Given the description of an element on the screen output the (x, y) to click on. 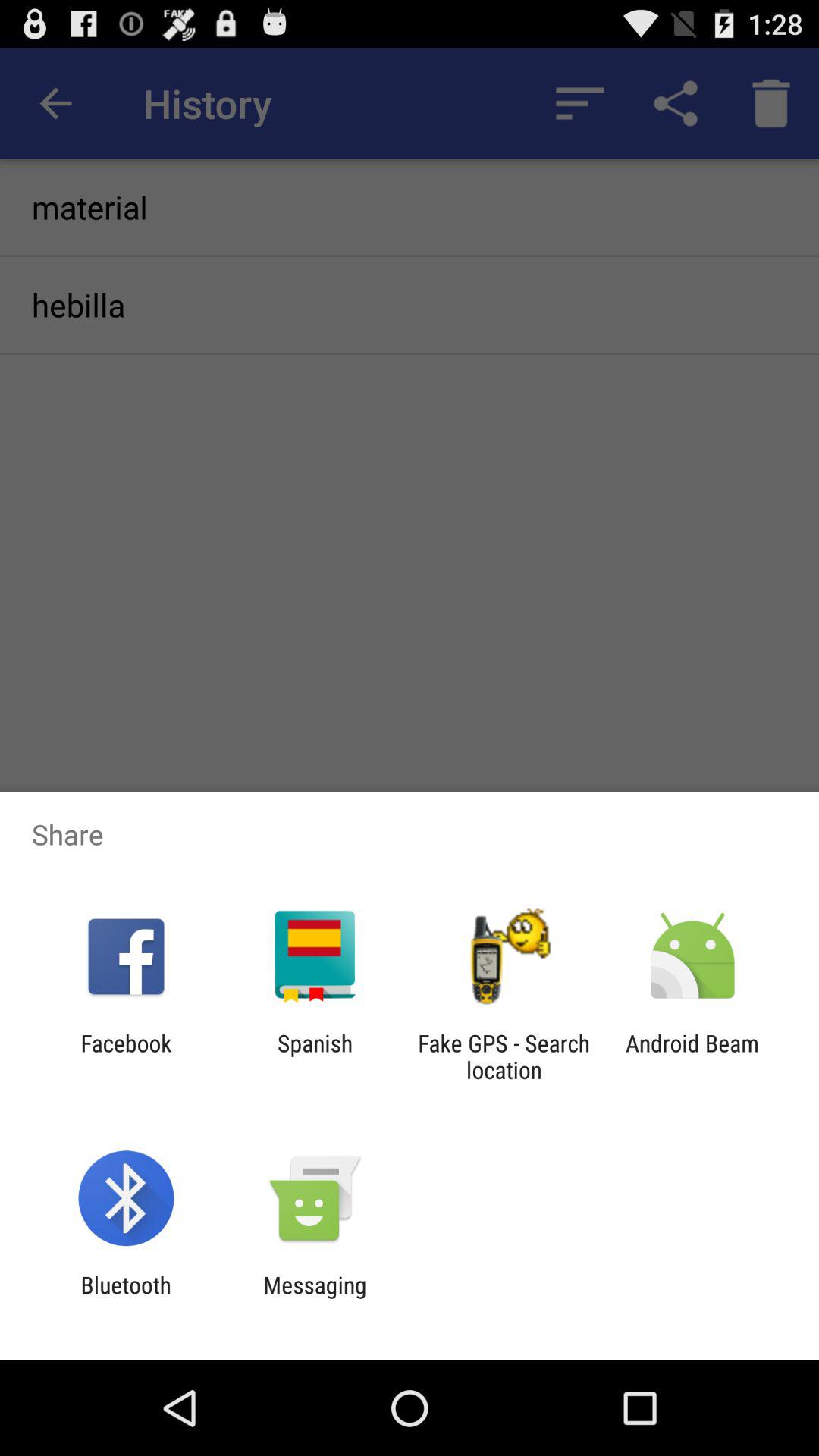
turn off the app next to bluetooth (314, 1298)
